Given the description of an element on the screen output the (x, y) to click on. 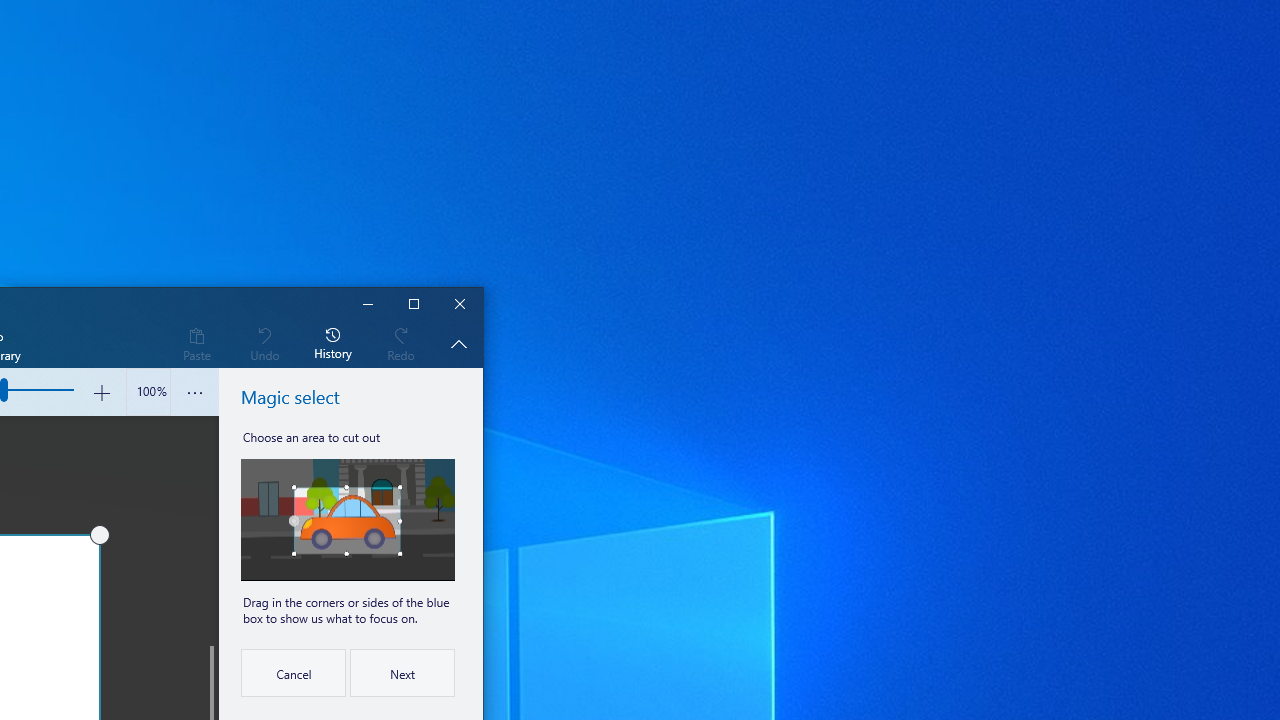
History (333, 343)
Zoom slider (148, 391)
Hide description (458, 343)
Redo (401, 343)
Paste (196, 343)
Zoom in (101, 391)
Undo (264, 343)
View more options (194, 391)
Cancel (292, 672)
Next (401, 672)
Vertical Large Decrease (210, 530)
